Given the description of an element on the screen output the (x, y) to click on. 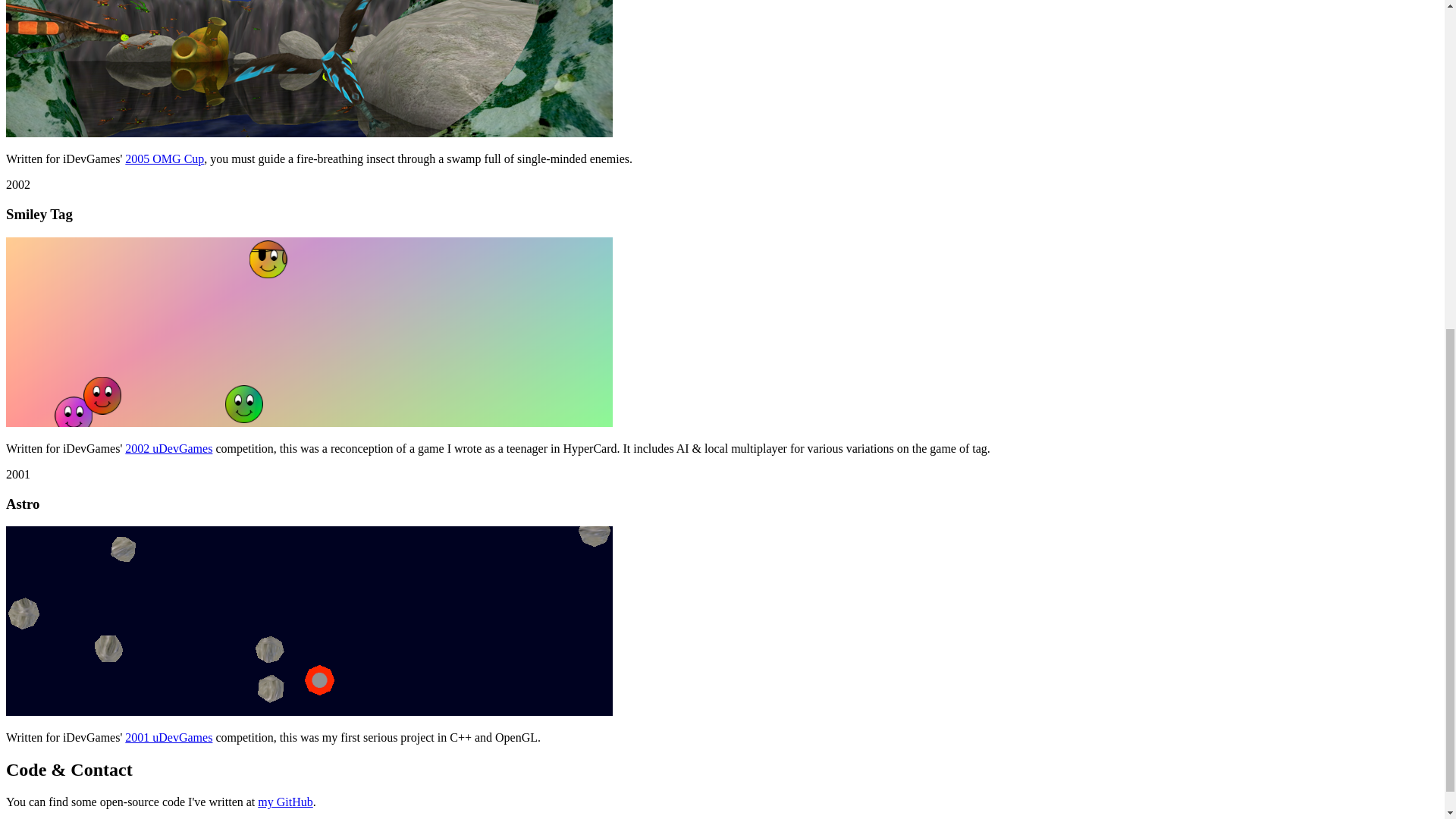
my GitHub (285, 801)
2005 OMG Cup (164, 158)
2001 uDevGames (168, 737)
2002 uDevGames (168, 448)
